Given the description of an element on the screen output the (x, y) to click on. 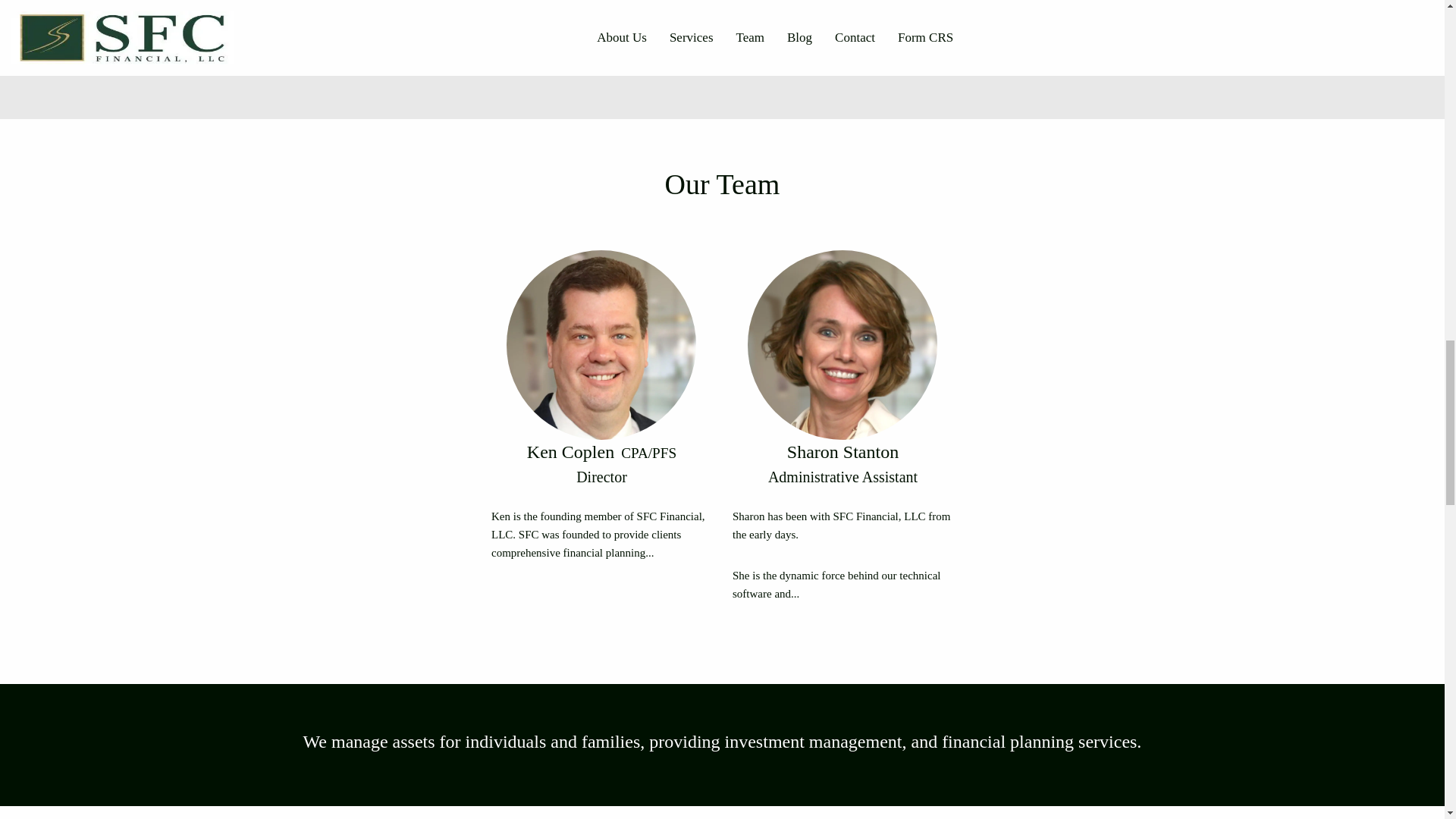
Sharon Stanton (842, 456)
Investment Management (721, 5)
Wealth Management (404, 7)
Retirement Plan Solutions (1039, 5)
